Given the description of an element on the screen output the (x, y) to click on. 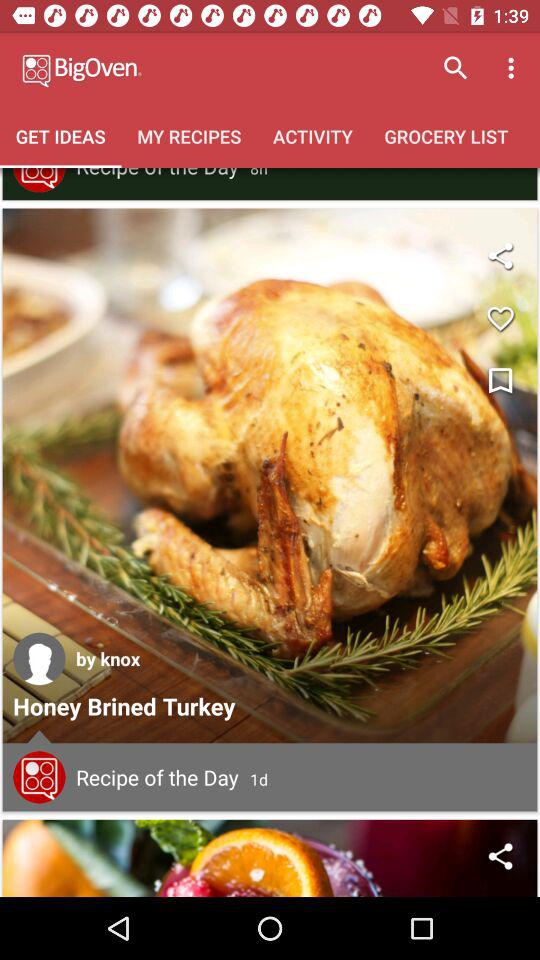
bookmark the article (500, 381)
